Given the description of an element on the screen output the (x, y) to click on. 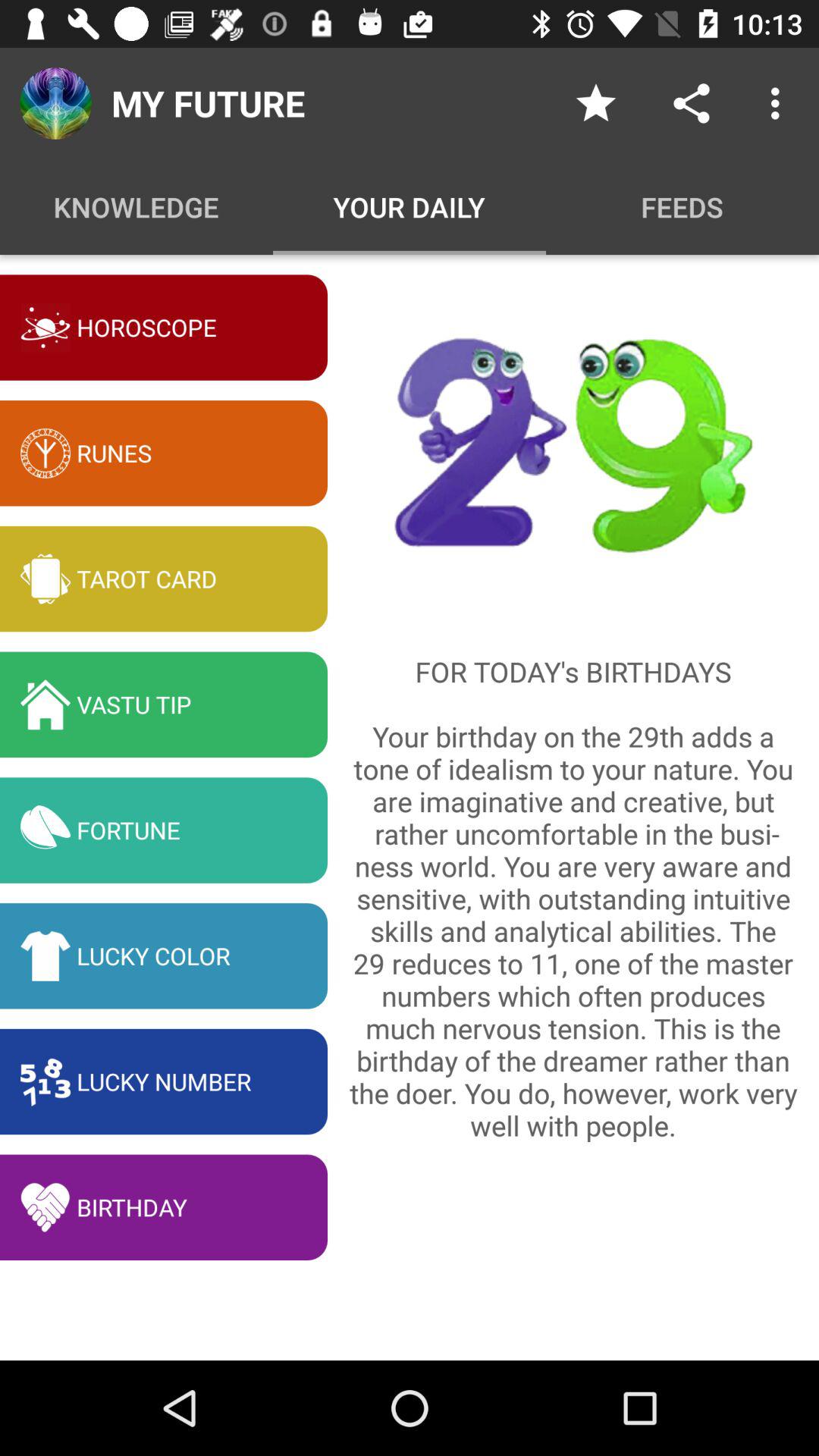
share to (691, 103)
